Given the description of an element on the screen output the (x, y) to click on. 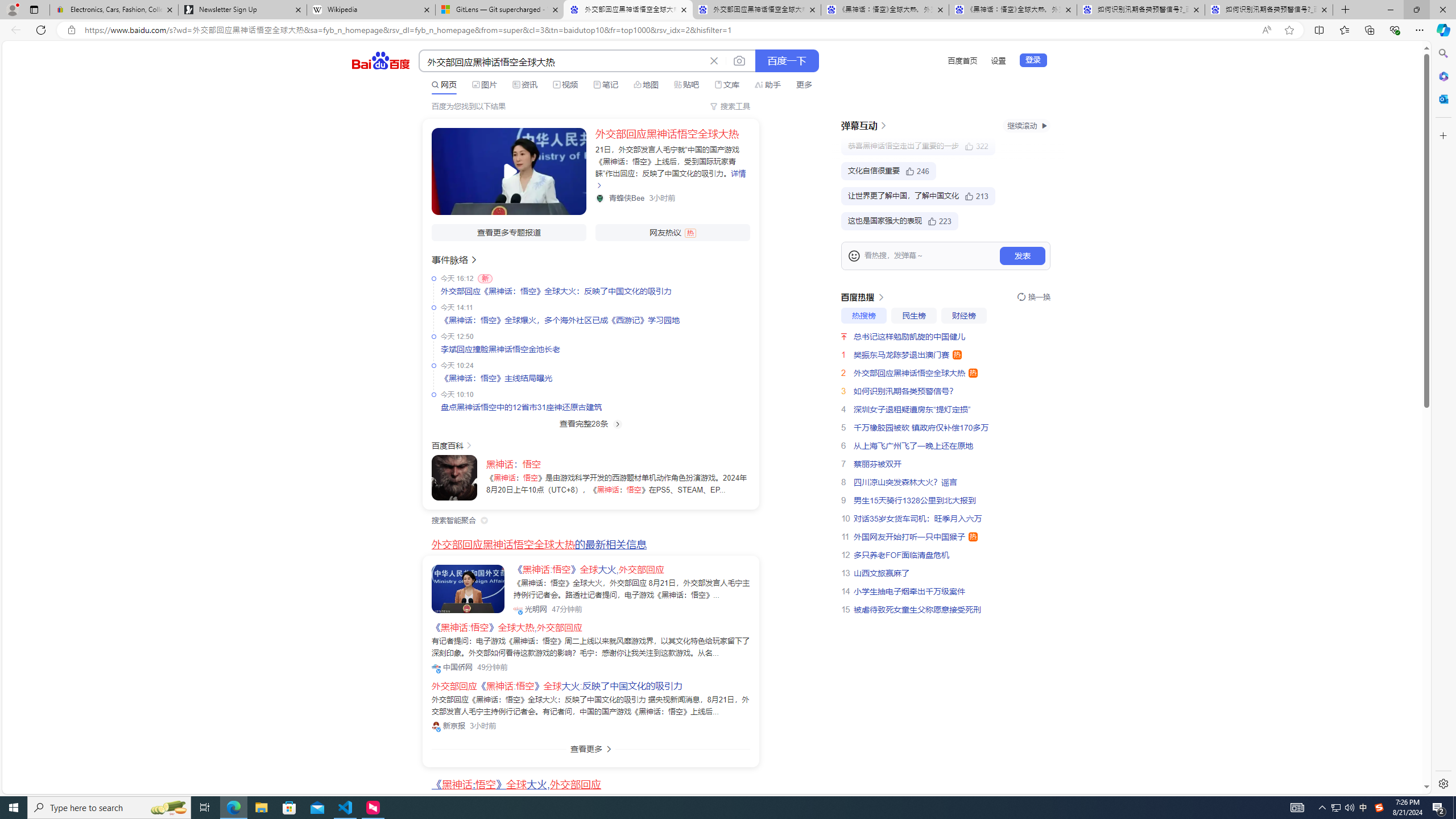
Wikipedia (370, 9)
